Given the description of an element on the screen output the (x, y) to click on. 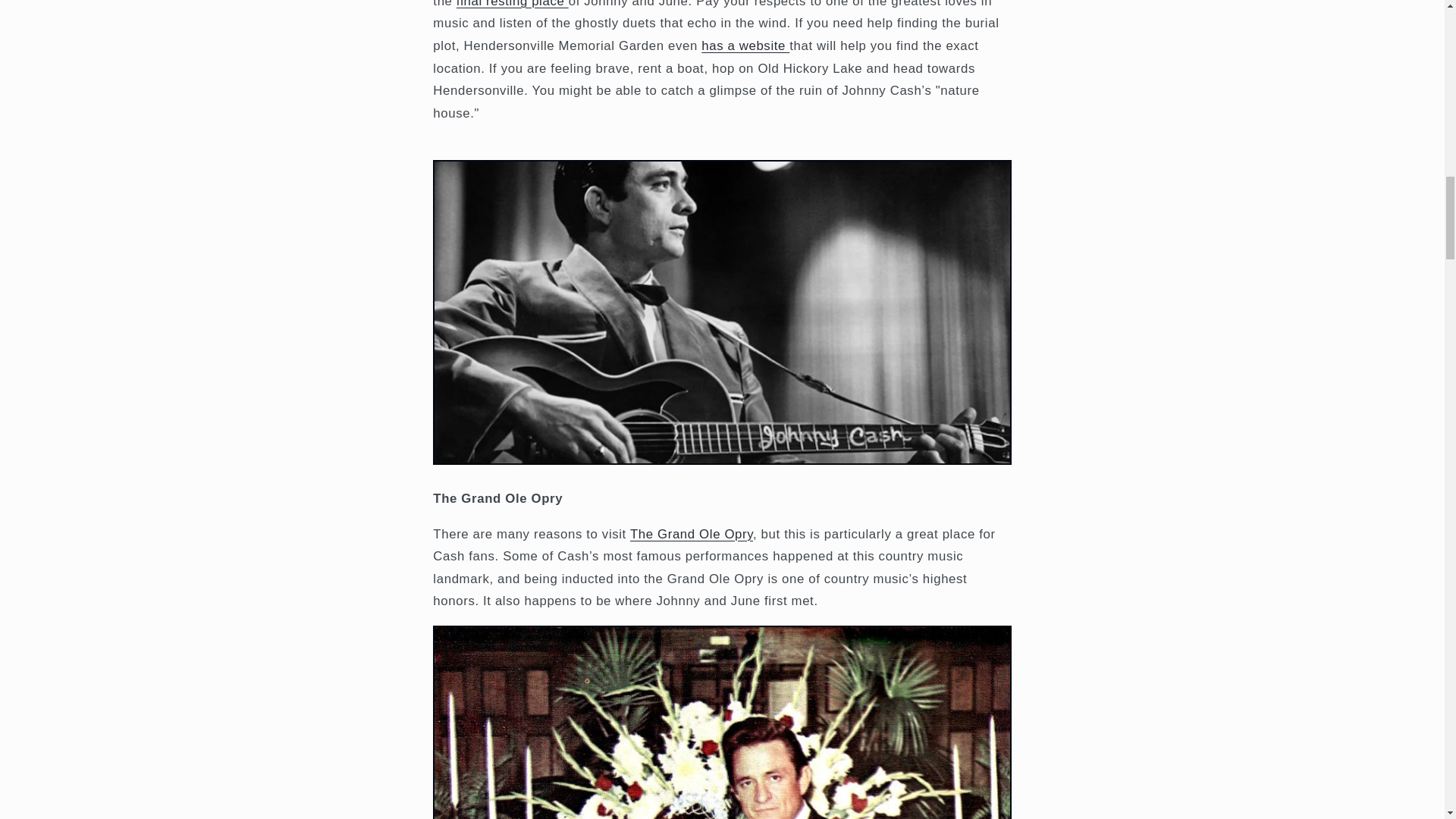
The Grand Ole Opry (691, 534)
Johnny Cash Burial Site at Hendersonville Memorial Gardens (745, 45)
CMT Johnny Cash Final Resting Place  (513, 4)
